Given the description of an element on the screen output the (x, y) to click on. 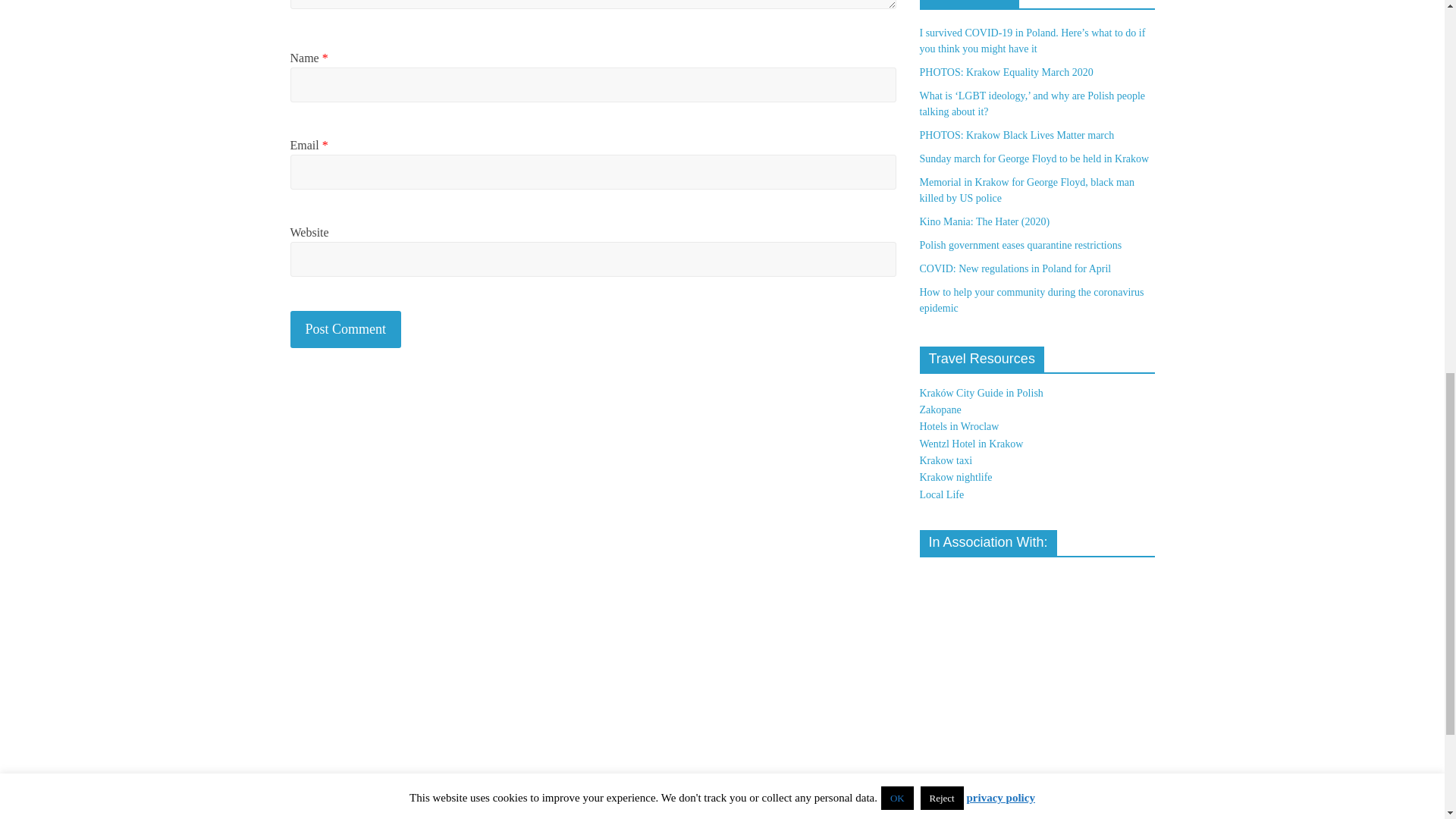
Post Comment (345, 329)
